Given the description of an element on the screen output the (x, y) to click on. 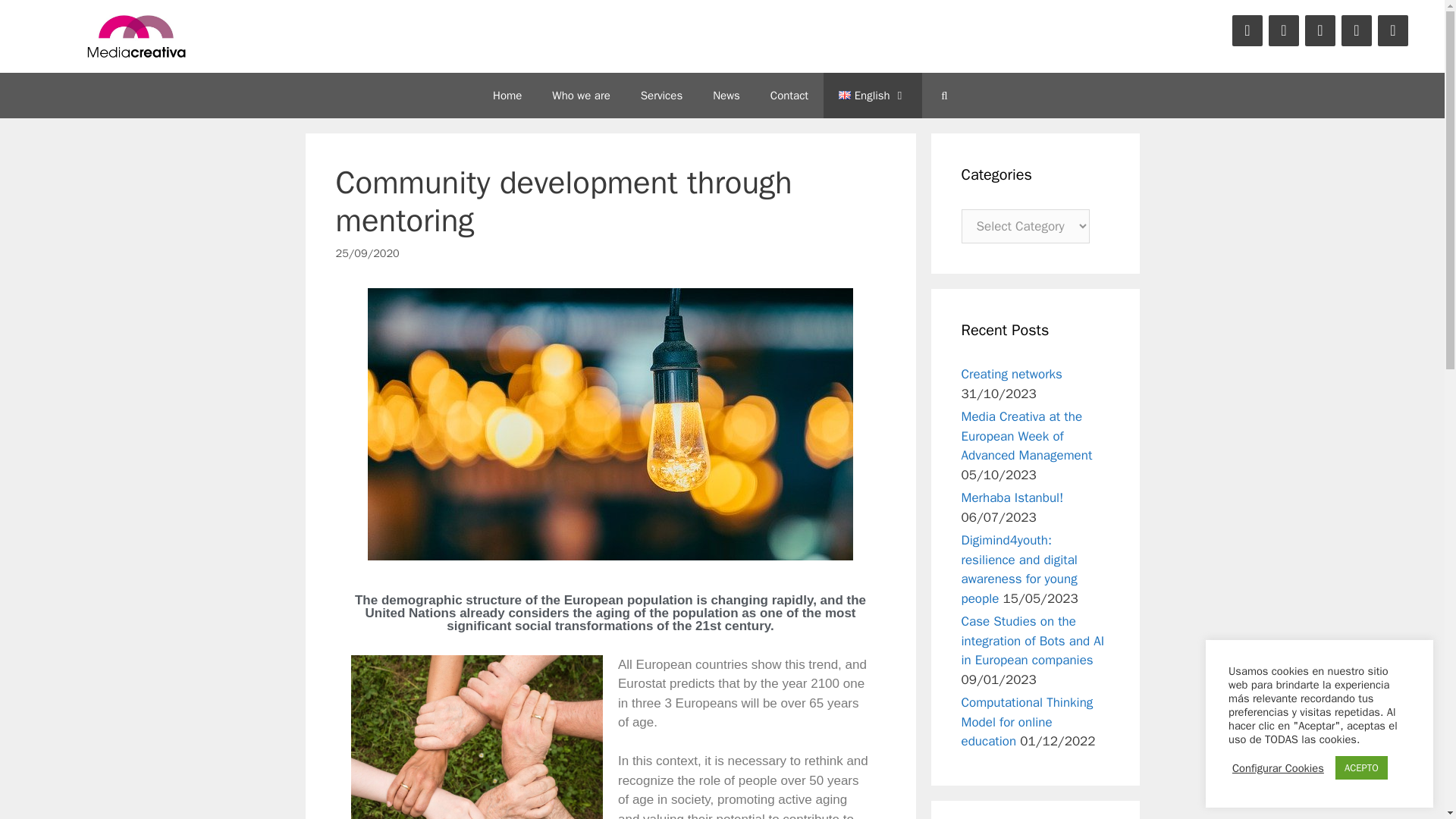
Who we are (580, 94)
English (872, 94)
Instagram (1392, 30)
Facebook (1246, 30)
News (726, 94)
Home (507, 94)
Twitter (1283, 30)
YouTube (1355, 30)
Services (661, 94)
Contact (789, 94)
LinkedIn (1319, 30)
